Given the description of an element on the screen output the (x, y) to click on. 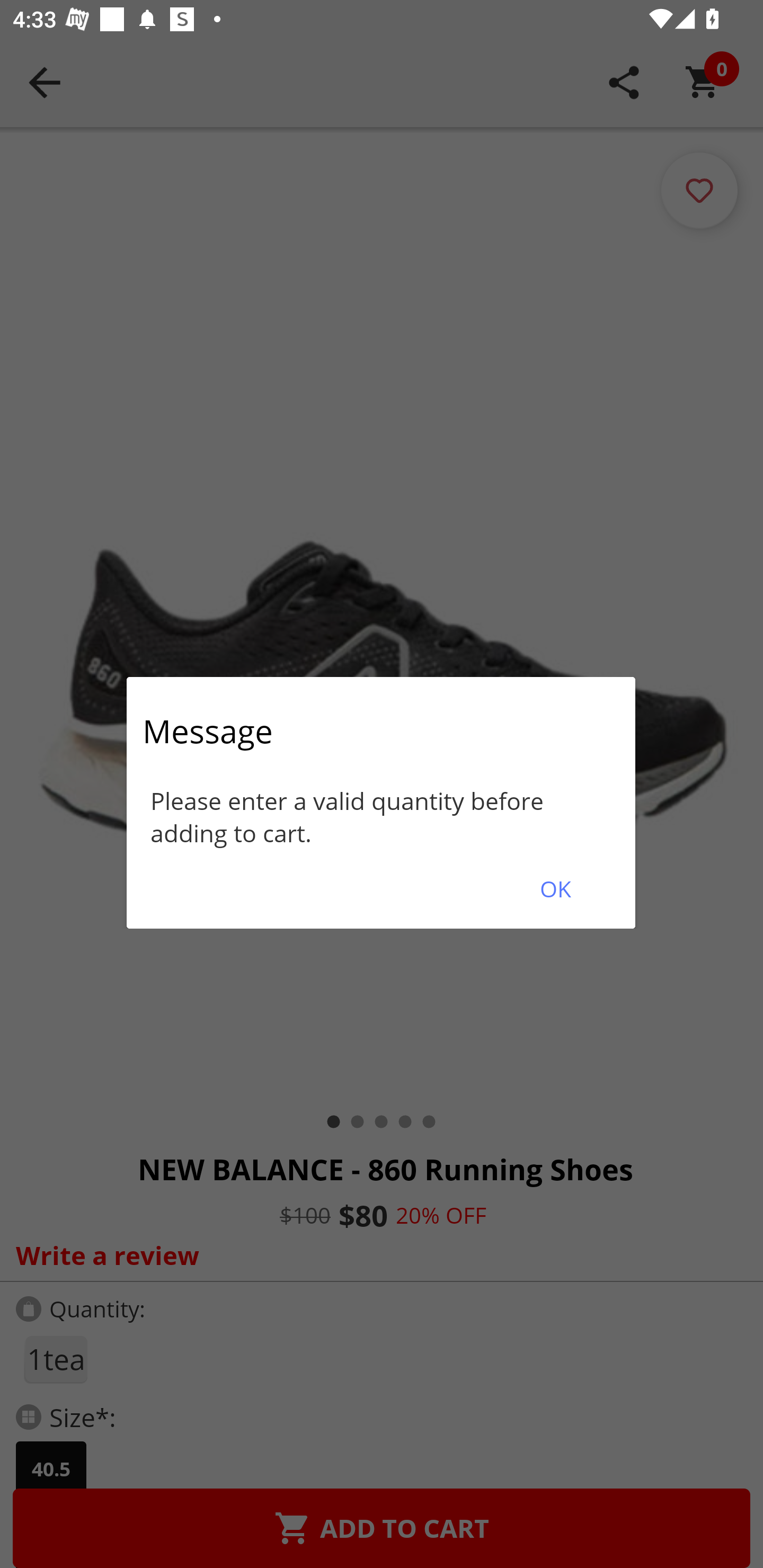
OK (555, 888)
